Given the description of an element on the screen output the (x, y) to click on. 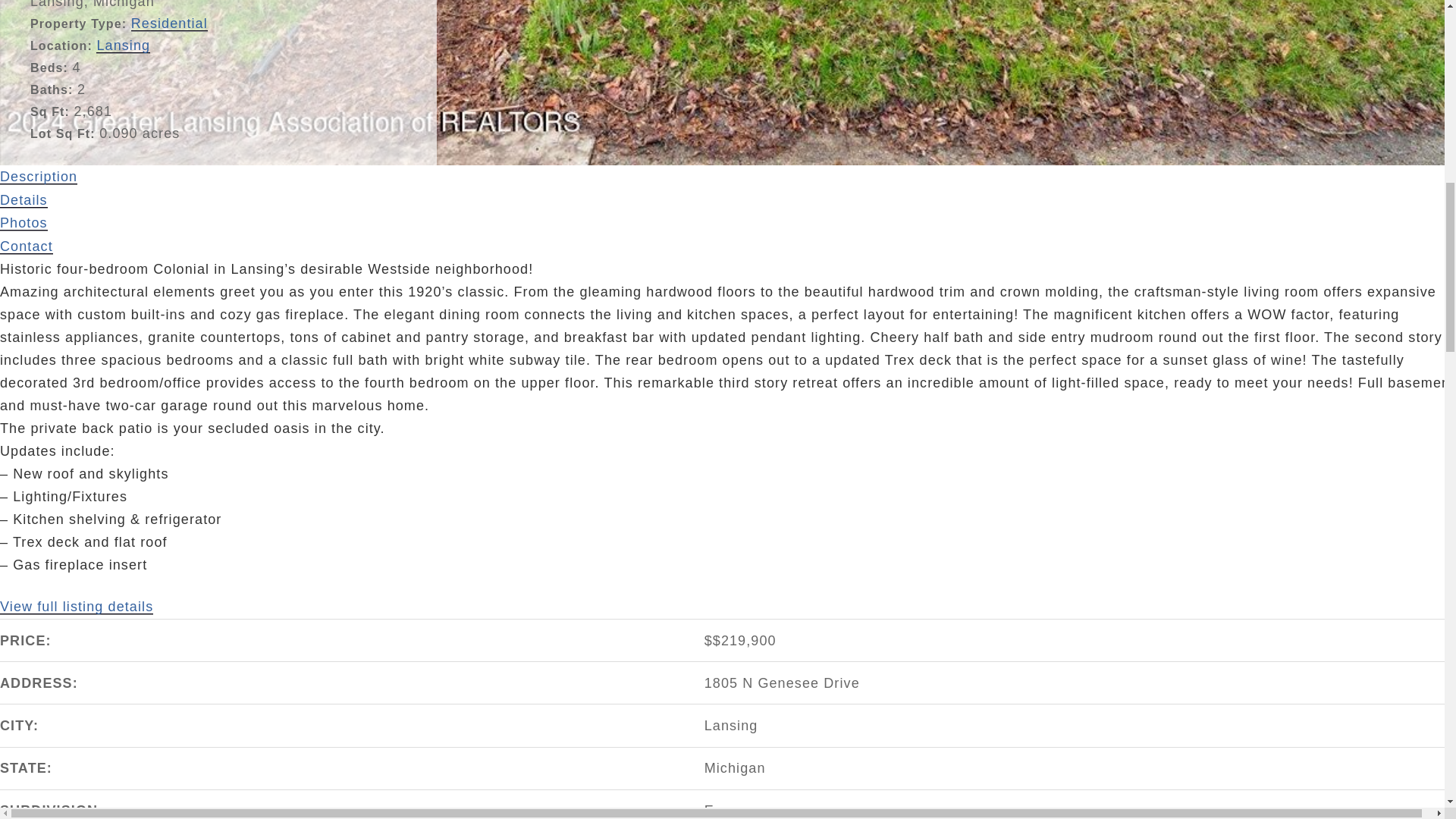
Photos (24, 222)
Contact (26, 246)
View full listing details (76, 606)
Description (38, 176)
Details (24, 200)
Residential (169, 23)
279498 (76, 606)
Lansing (122, 45)
